Given the description of an element on the screen output the (x, y) to click on. 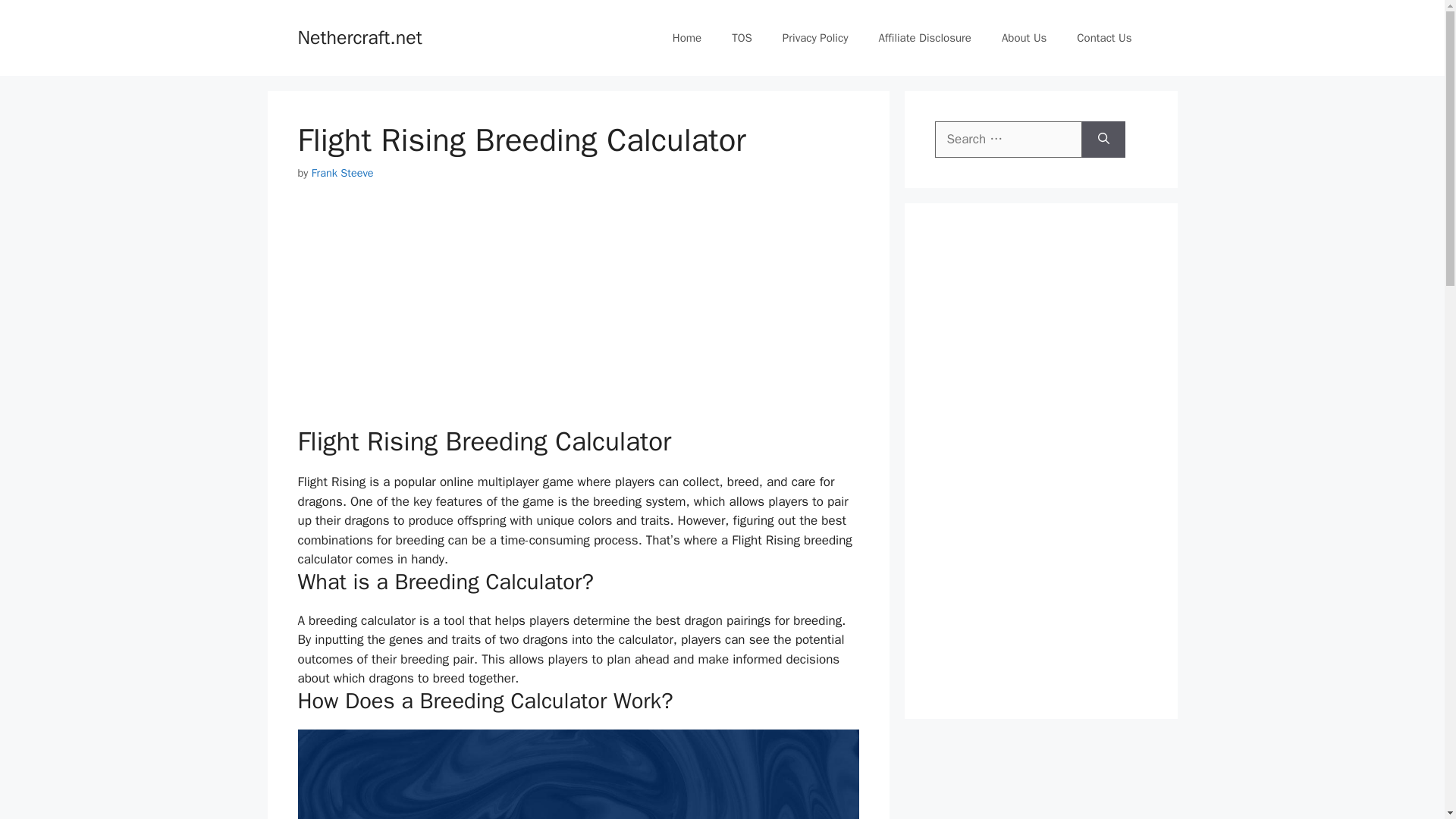
Home (687, 37)
Privacy Policy (815, 37)
Affiliate Disclosure (925, 37)
Advertisement (578, 313)
Search for: (1007, 139)
View all posts by Frank Steeve (342, 172)
Nethercraft.net (359, 37)
Contact Us (1104, 37)
About Us (1024, 37)
TOS (741, 37)
Frank Steeve (342, 172)
